Given the description of an element on the screen output the (x, y) to click on. 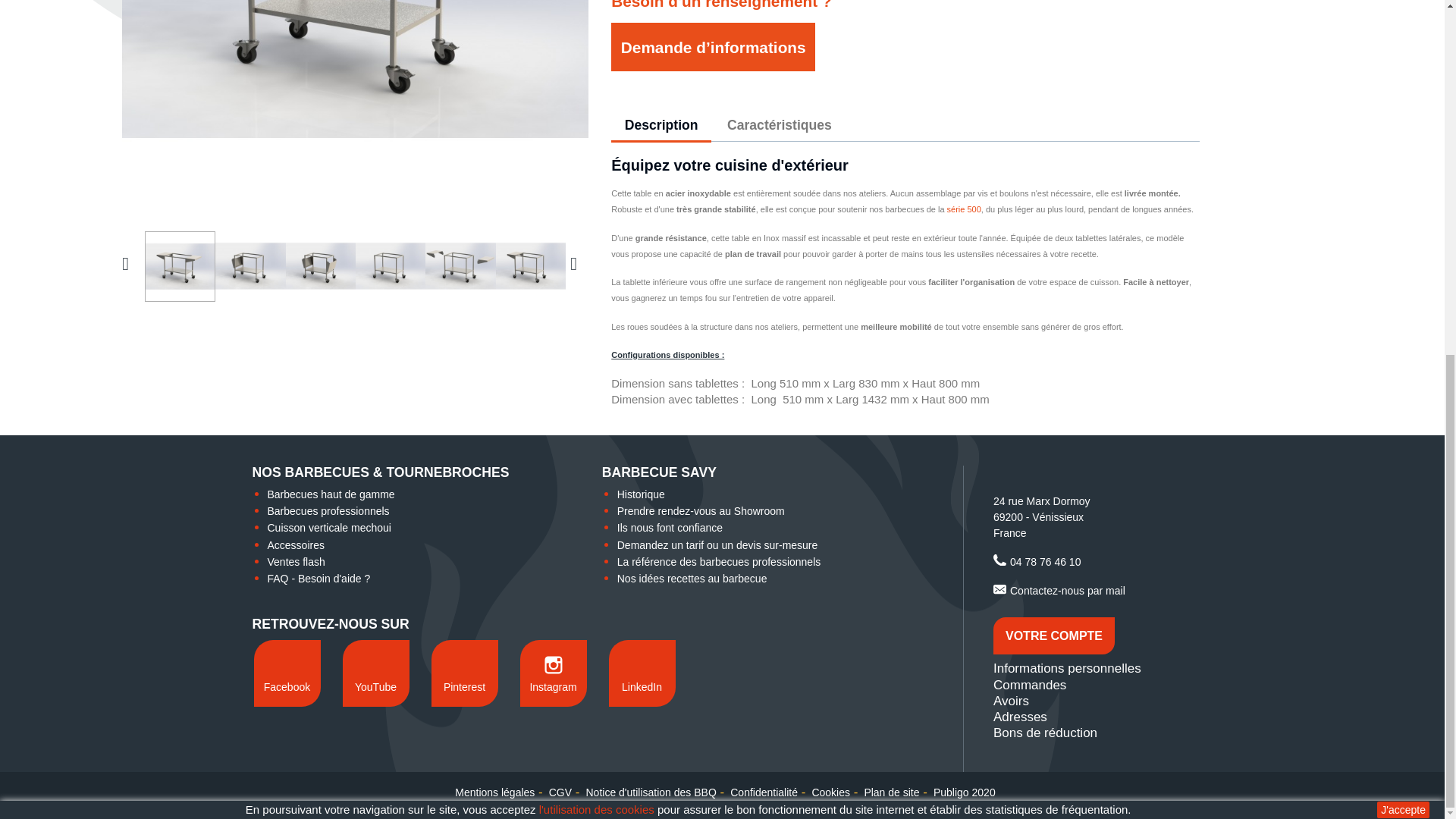
Support barbecue (390, 265)
Table support pour barbecue 500 (250, 265)
Table inox avec tablettes (531, 265)
Description (661, 126)
Table roulante en inox (179, 266)
Table inox pour barbecue (320, 265)
Table roulante en inox (355, 108)
Support inox pour barbecue Savy (460, 265)
